Given the description of an element on the screen output the (x, y) to click on. 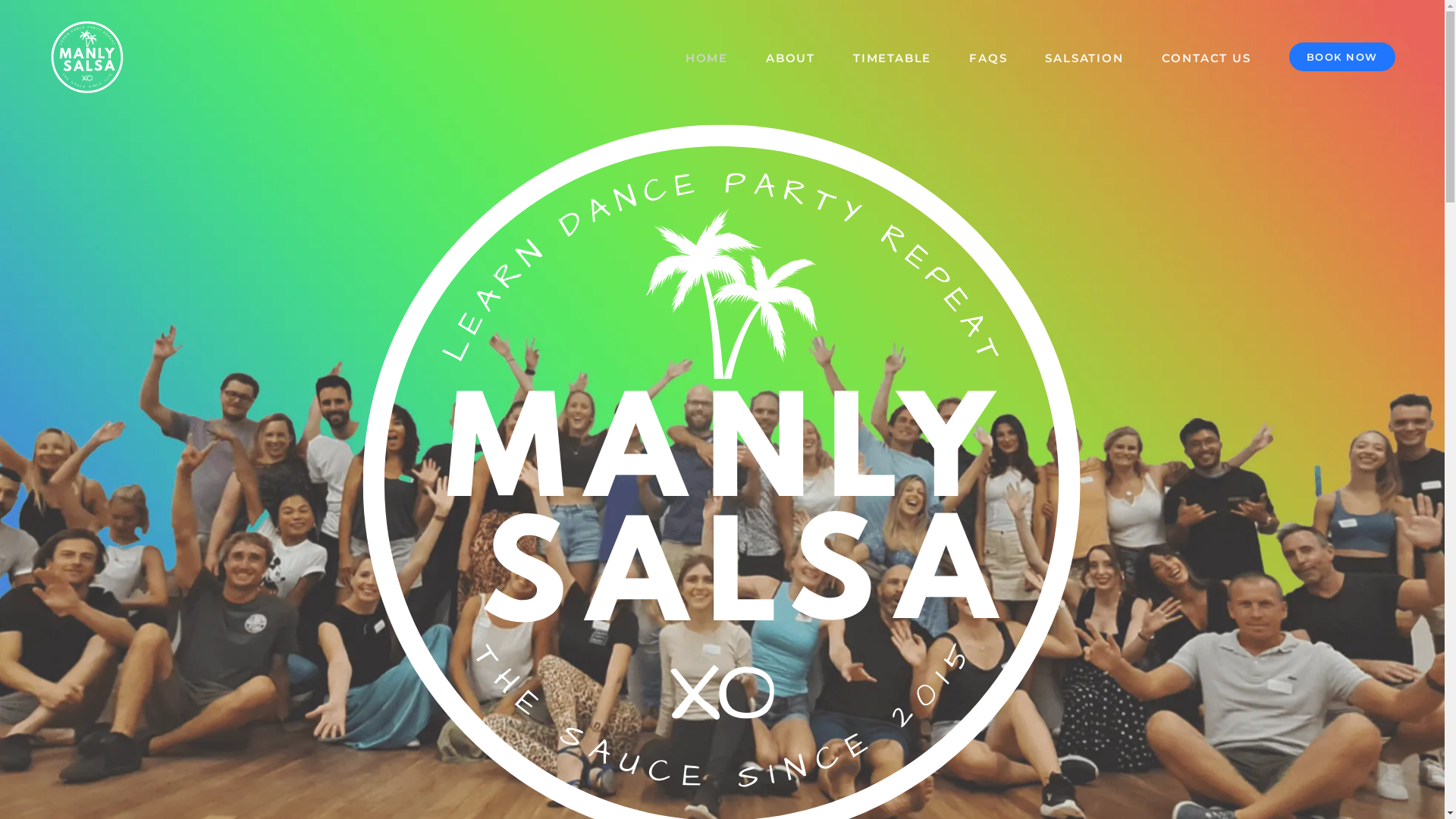
BOOK NOW Element type: text (1342, 56)
HOME Element type: text (706, 56)
FAQS Element type: text (988, 56)
SALSATION Element type: text (1083, 56)
TIMETABLE Element type: text (892, 56)
ABOUT Element type: text (790, 56)
CONTACT US Element type: text (1206, 56)
